Given the description of an element on the screen output the (x, y) to click on. 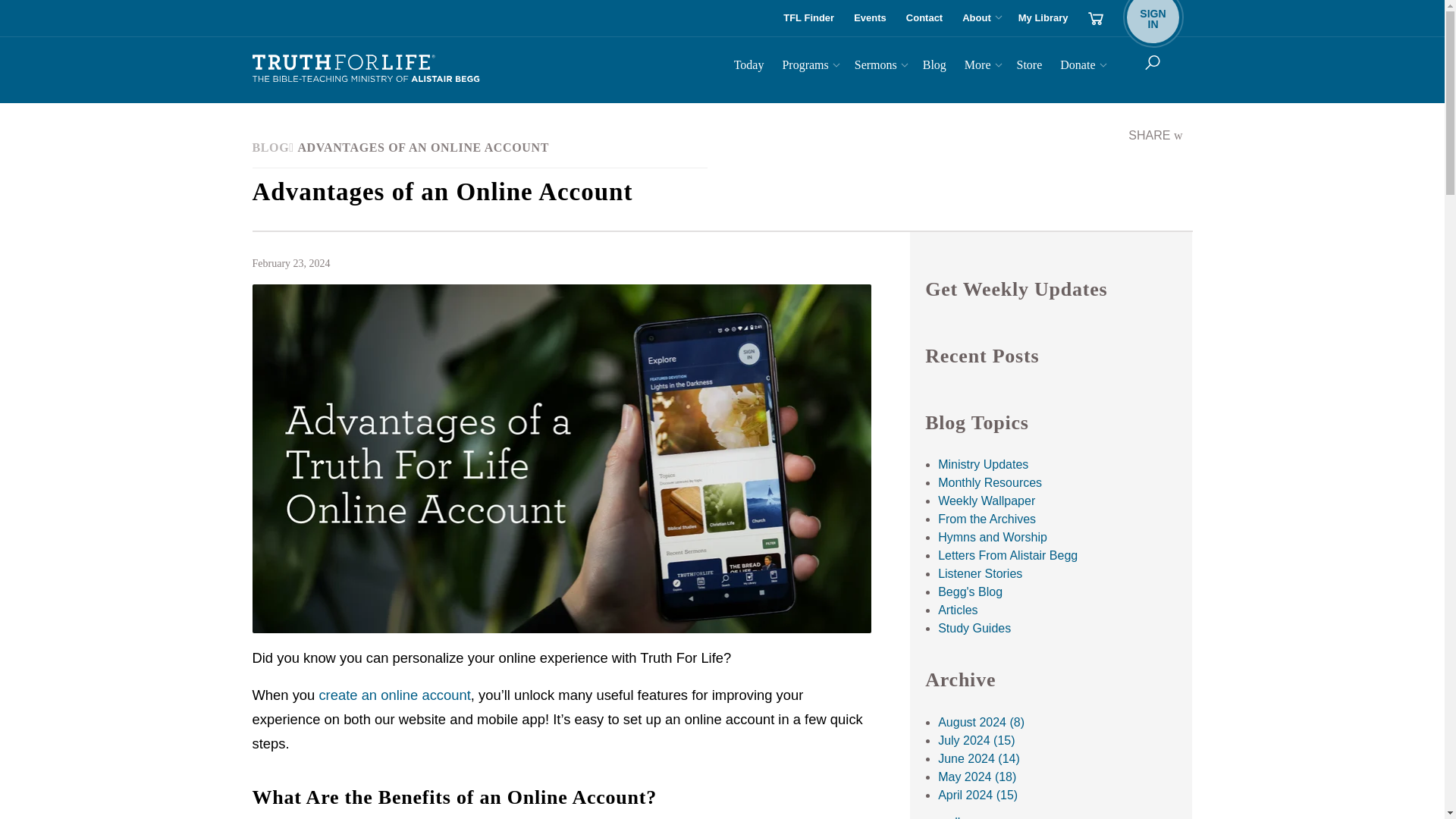
About (1152, 18)
Events (980, 18)
Sermons (869, 18)
Today (879, 66)
Contact (748, 66)
My Library (924, 18)
cart (1043, 18)
Programs (1095, 18)
Truth For Life (808, 66)
